Given the description of an element on the screen output the (x, y) to click on. 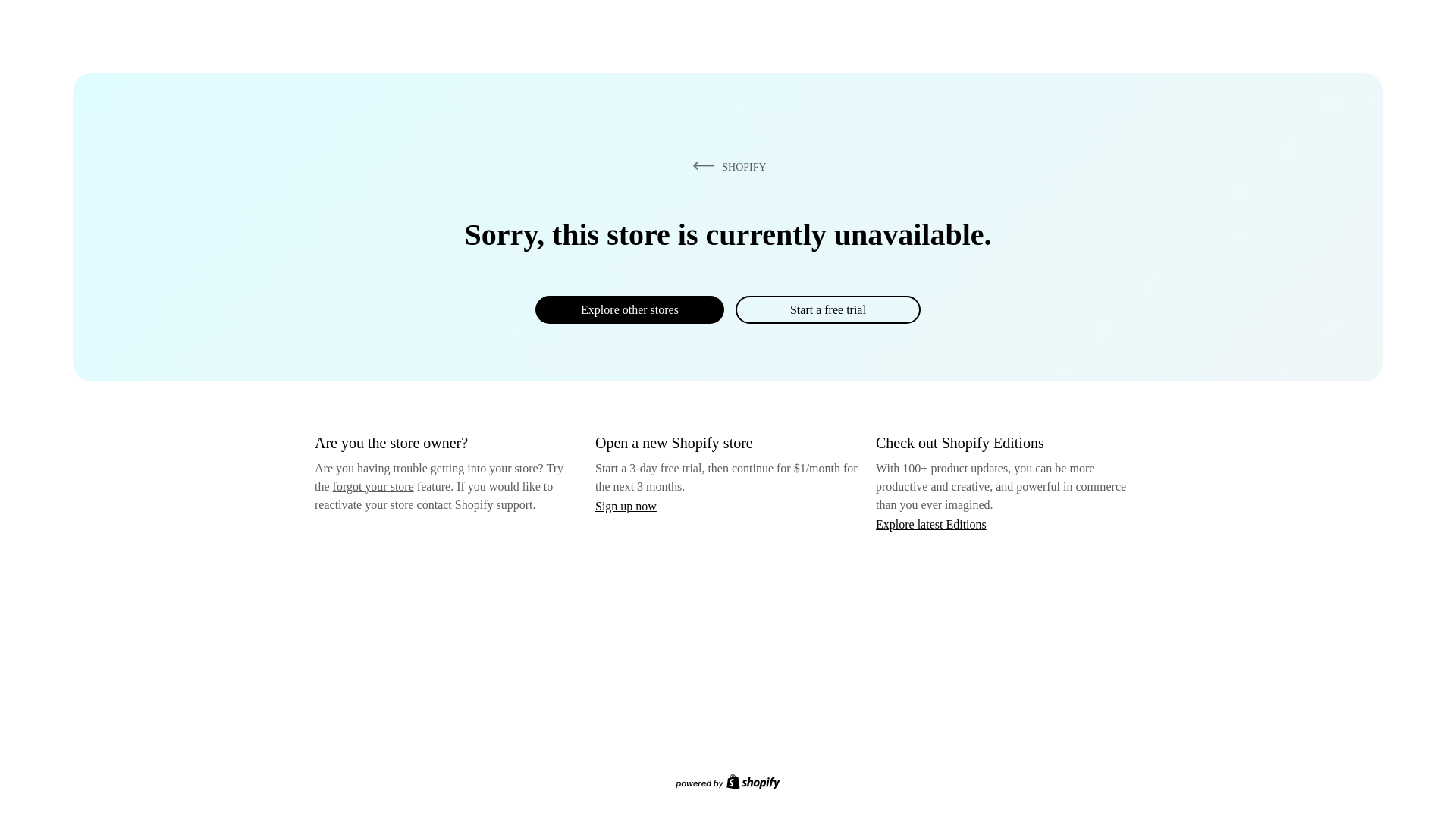
Start a free trial (827, 309)
forgot your store (373, 486)
Shopify support (493, 504)
SHOPIFY (726, 166)
Sign up now (625, 505)
Explore latest Editions (931, 523)
Explore other stores (629, 309)
